Given the description of an element on the screen output the (x, y) to click on. 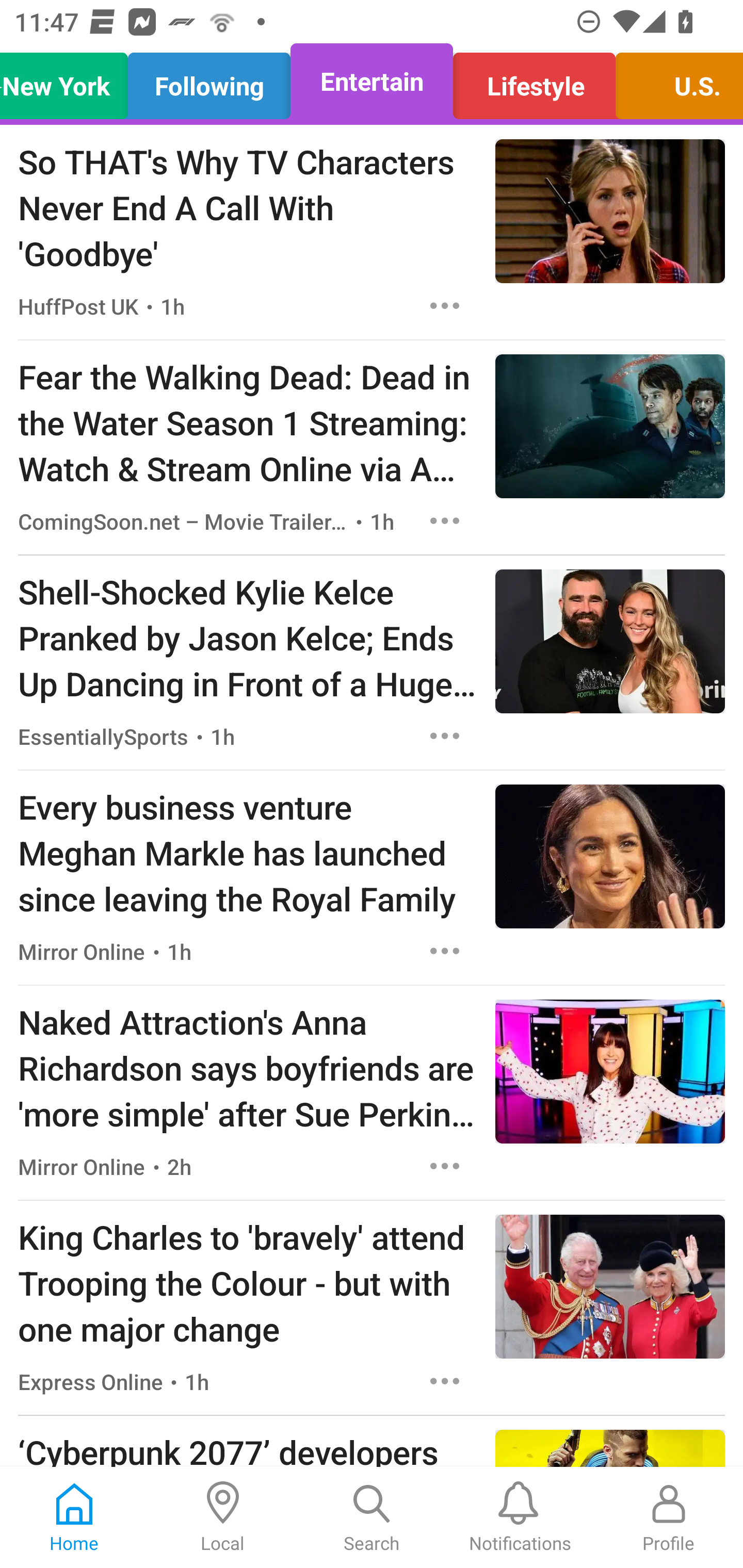
➣New York (69, 81)
Following (209, 81)
Entertain (371, 81)
Lifestyle (534, 81)
U.S. (673, 81)
Options (444, 305)
Options (444, 520)
Options (444, 736)
Options (444, 950)
Options (444, 1166)
Options (444, 1381)
Local (222, 1517)
Search (371, 1517)
Notifications (519, 1517)
Profile (668, 1517)
